Given the description of an element on the screen output the (x, y) to click on. 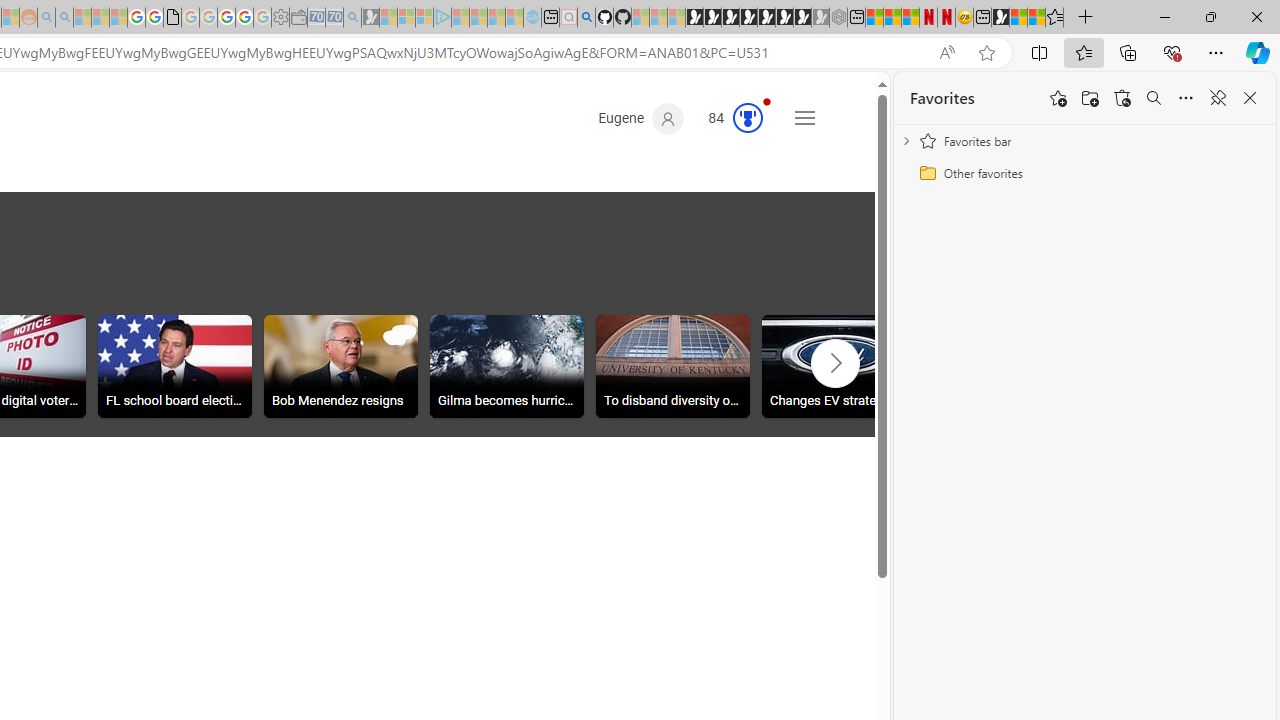
To disband diversity office (673, 365)
Bob Menendez resigns (340, 369)
Microsoft Rewards 84 (728, 119)
AutomationID: serp_medal_svg (748, 117)
